Given the description of an element on the screen output the (x, y) to click on. 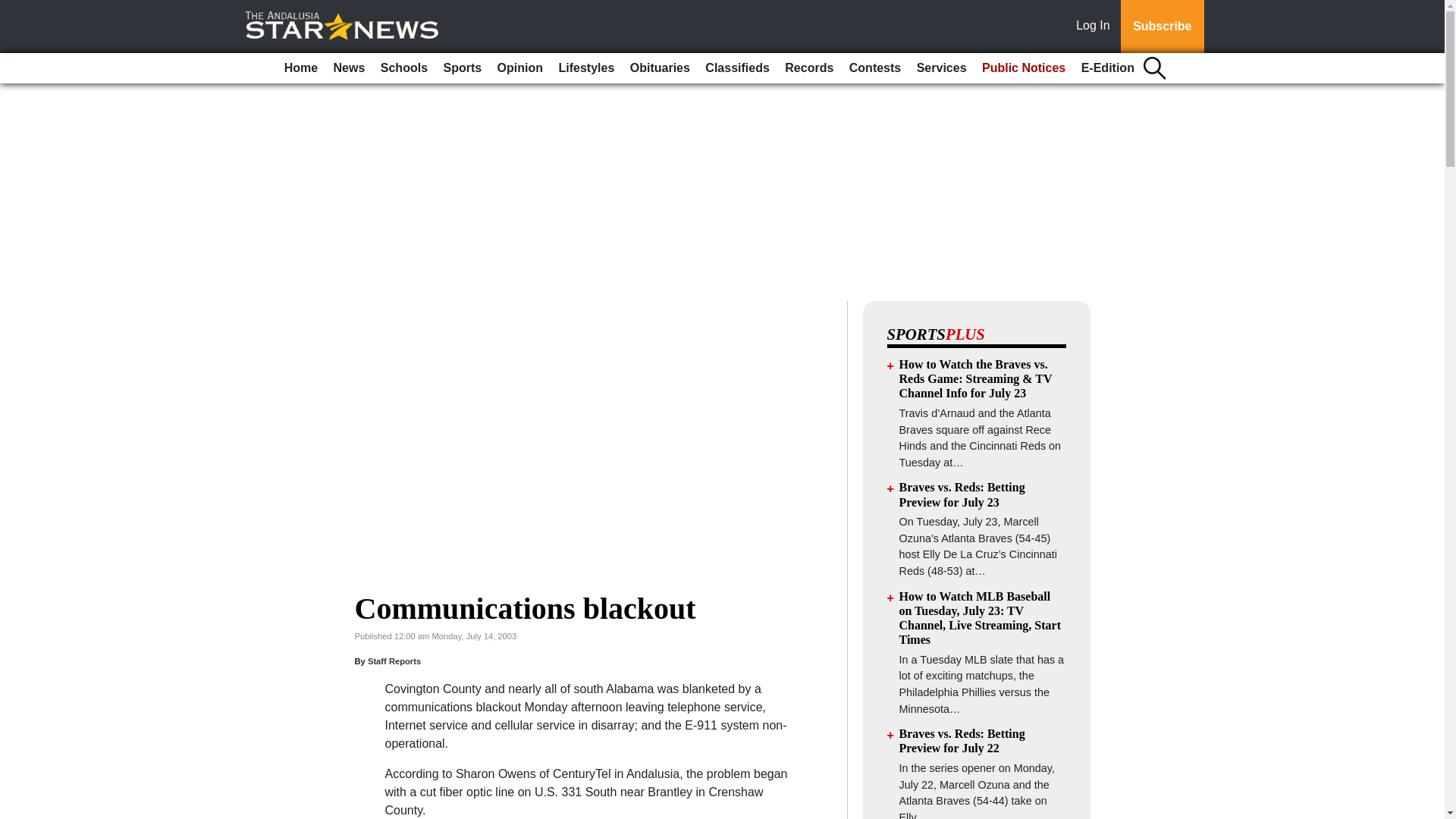
Public Notices (1023, 68)
Lifestyles (585, 68)
Subscribe (1162, 26)
Records (809, 68)
Go (13, 9)
Schools (403, 68)
News (349, 68)
Home (300, 68)
Staff Reports (394, 660)
Opinion (520, 68)
E-Edition (1107, 68)
Sports (461, 68)
Contests (875, 68)
Obituaries (659, 68)
